Given the description of an element on the screen output the (x, y) to click on. 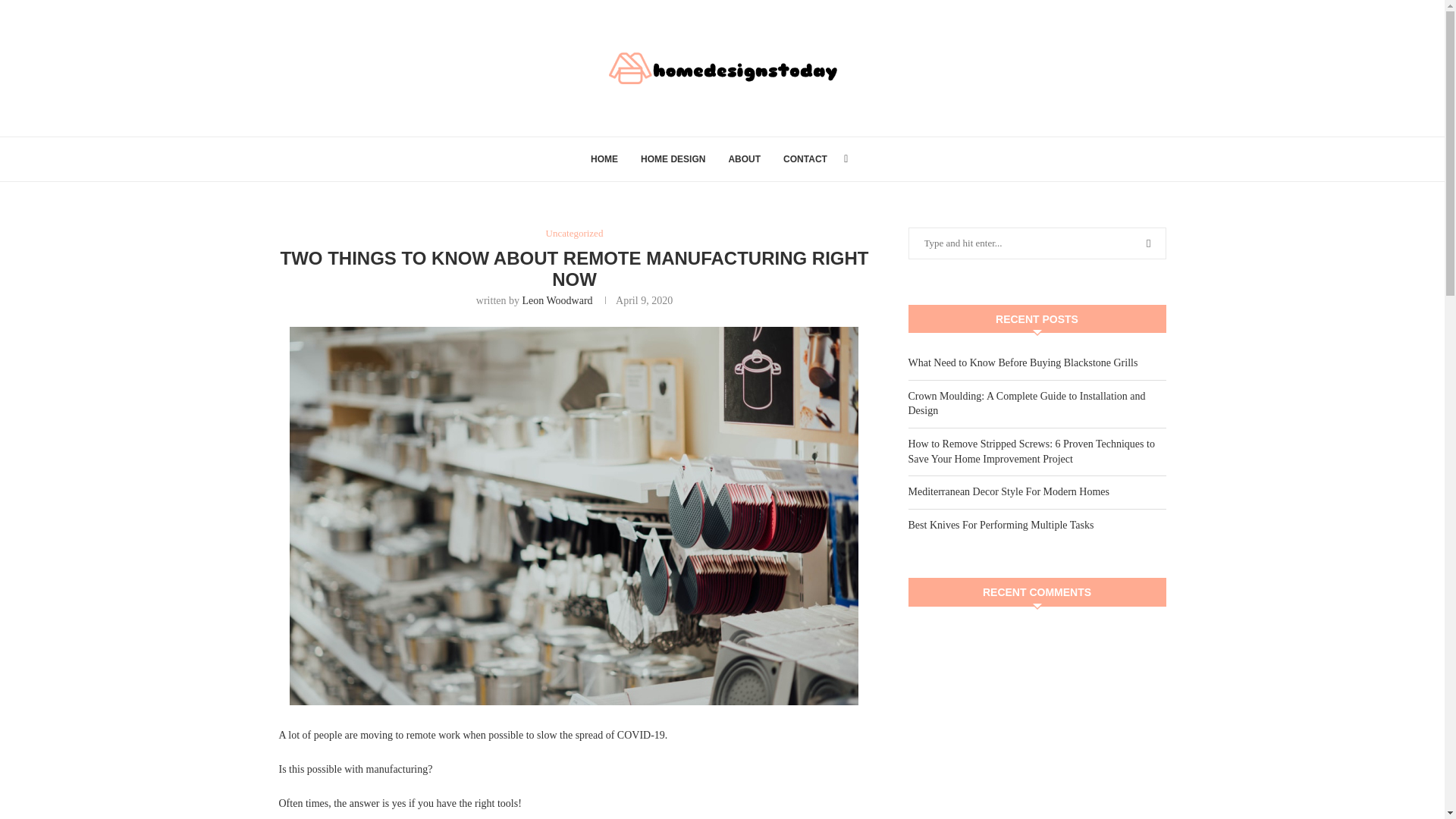
Leon Woodward (556, 300)
CONTACT (805, 158)
HOME DESIGN (672, 158)
Uncategorized (575, 233)
